Given the description of an element on the screen output the (x, y) to click on. 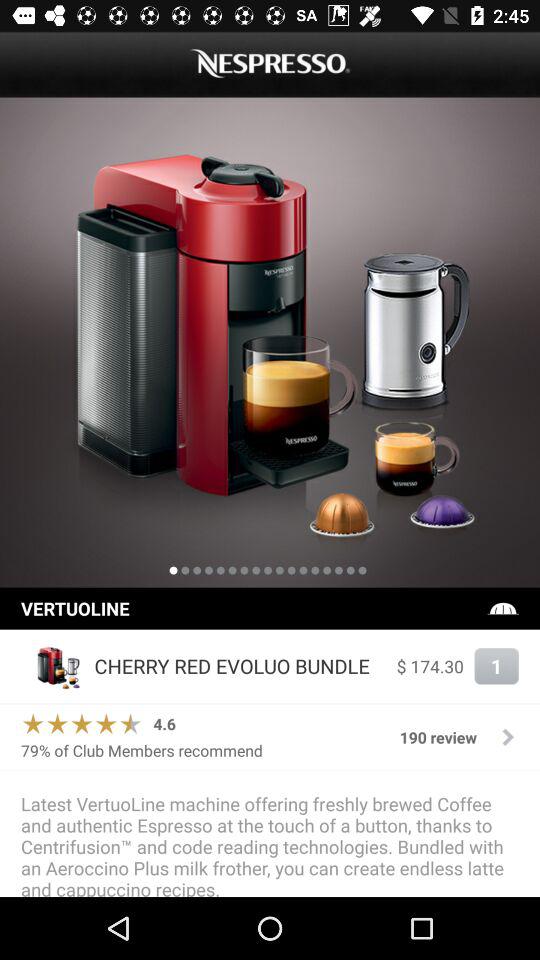
click the item above latest vertuoline machine item (270, 770)
